Given the description of an element on the screen output the (x, y) to click on. 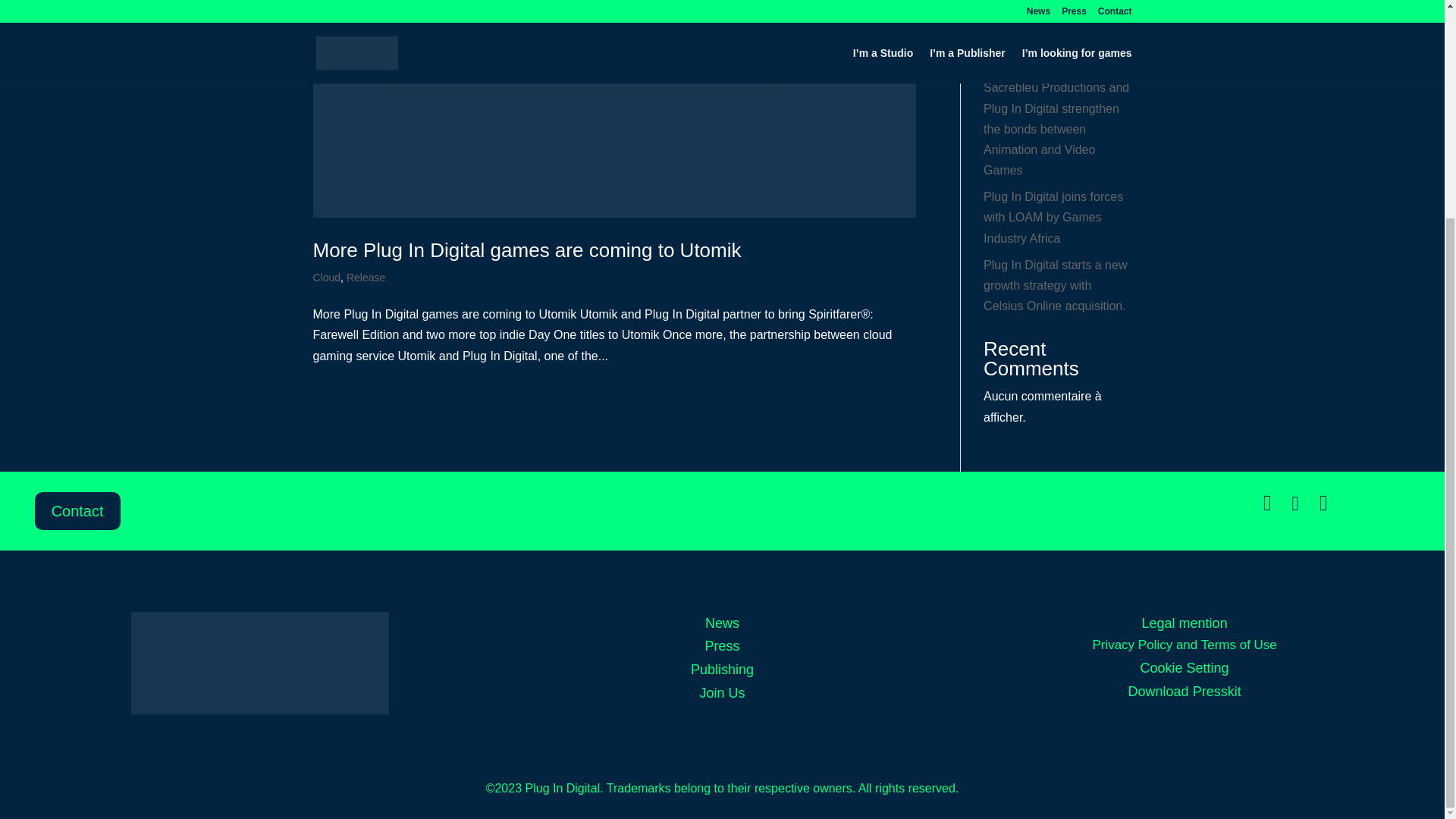
Download Presskit (1185, 691)
Cookie Setting (1184, 668)
Legal mention (1184, 623)
Privacy Policy and Terms of Use (1183, 645)
Contact (77, 510)
Publishing (722, 669)
Release (365, 277)
Cloud (326, 277)
Join Us (721, 693)
News (721, 623)
More Plug In Digital games are coming to Utomik (527, 250)
